Given the description of an element on the screen output the (x, y) to click on. 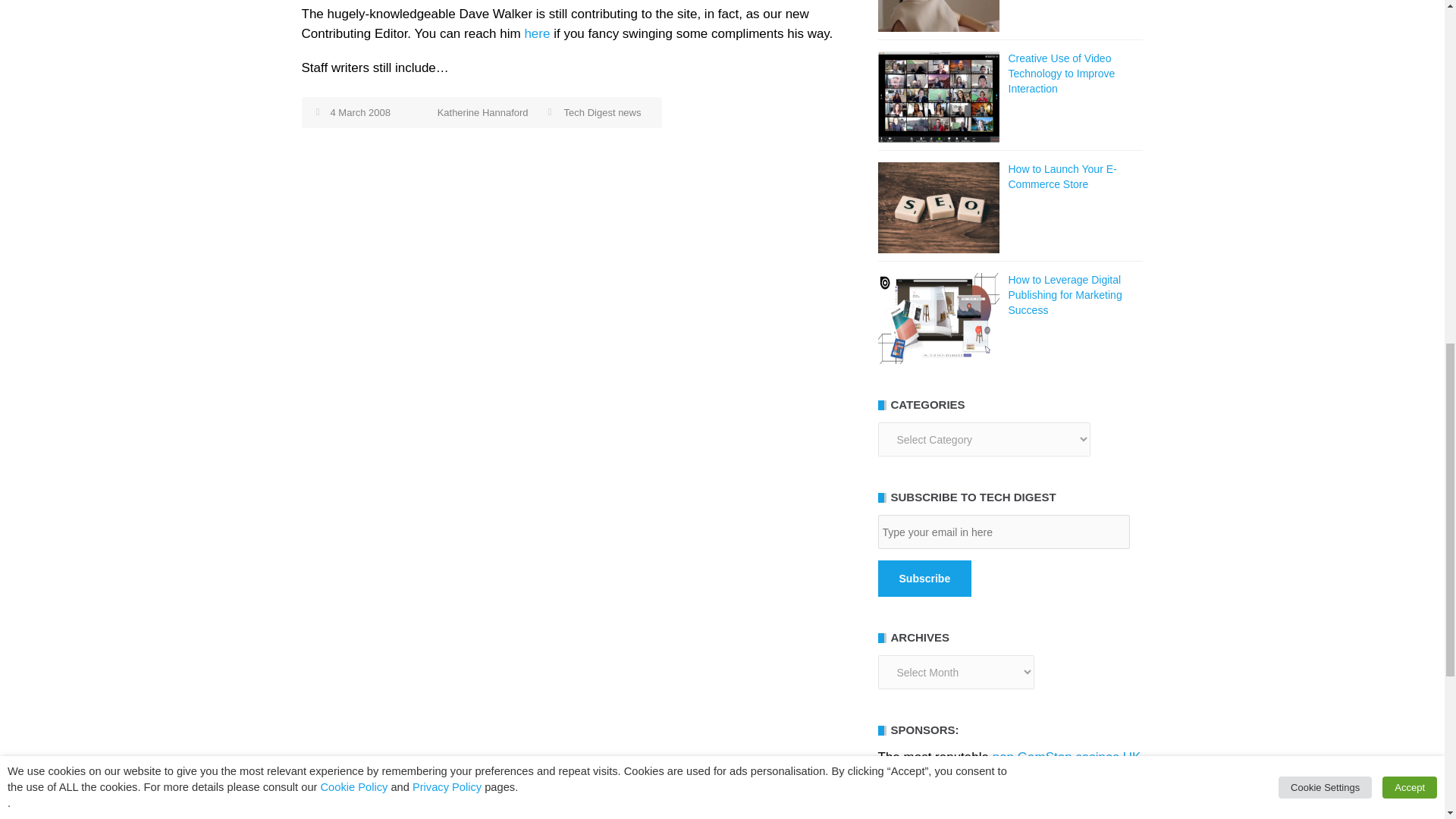
Type your email in here (1003, 531)
Type your email in here (1003, 531)
